Given the description of an element on the screen output the (x, y) to click on. 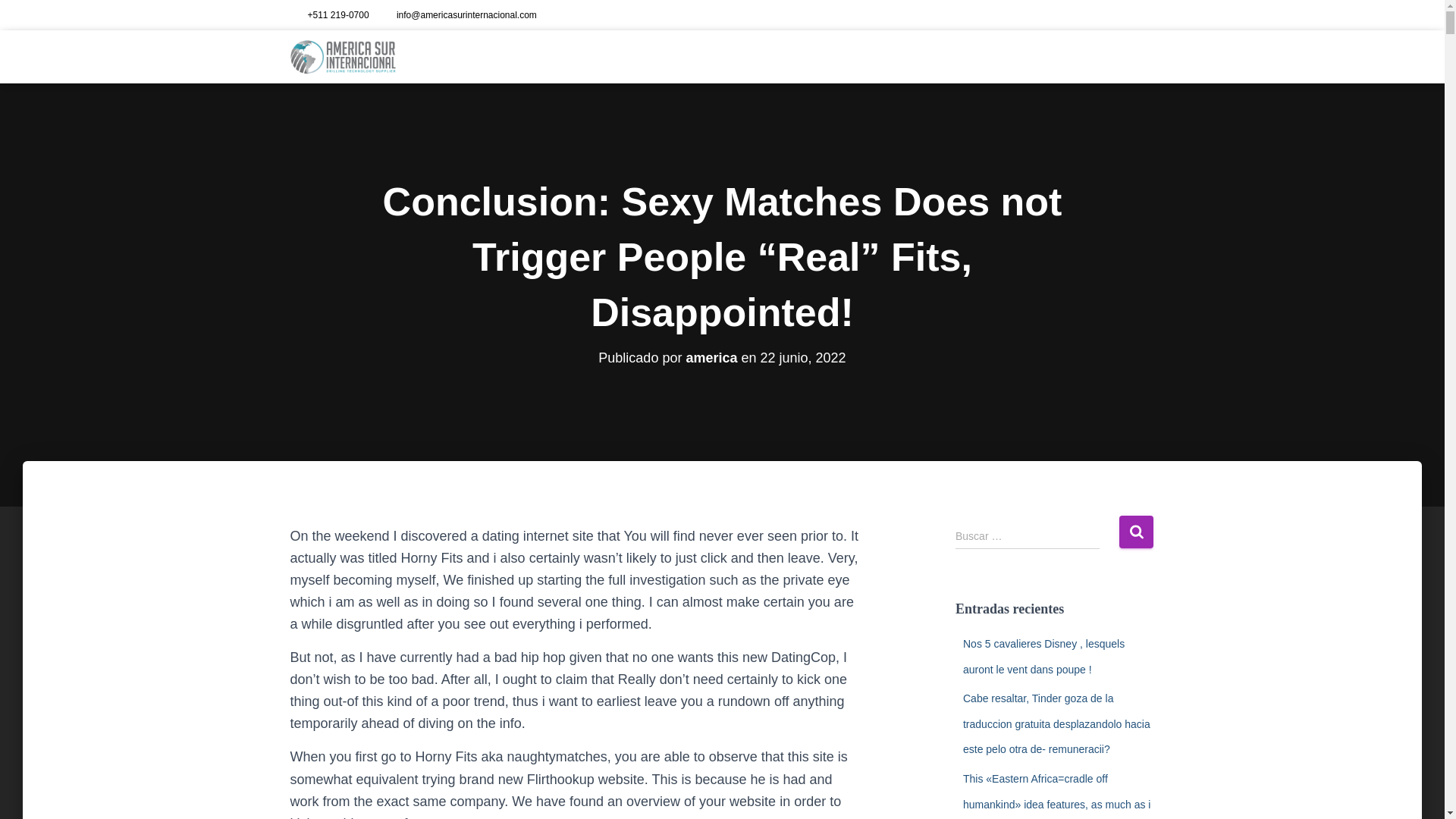
CONTACTO (1117, 56)
NOSOTROS (912, 56)
NOSOTROS (912, 56)
INICIO (850, 56)
INICIO (850, 56)
America Sur Internacional (343, 56)
Buscar (1136, 531)
Buscar (1136, 531)
